Given the description of an element on the screen output the (x, y) to click on. 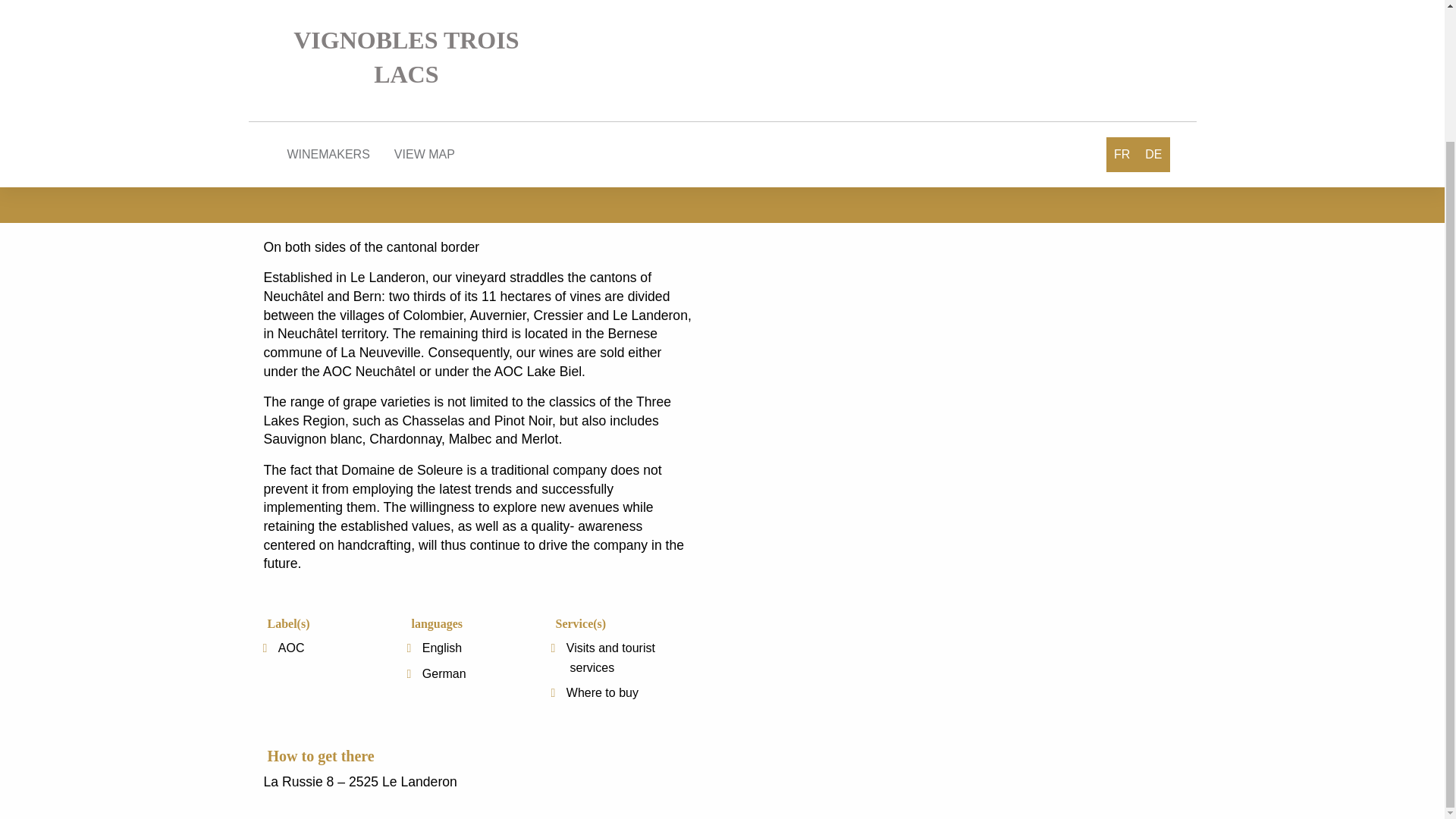
WINEMAKER (419, 2)
www.domaine-de-soleure.ch (344, 176)
VIEW MAP (424, 4)
VIGNOBLES-TROIS-LACS (323, 2)
FR (1121, 5)
WINEMAKERS (328, 4)
DE (1153, 5)
